Given the description of an element on the screen output the (x, y) to click on. 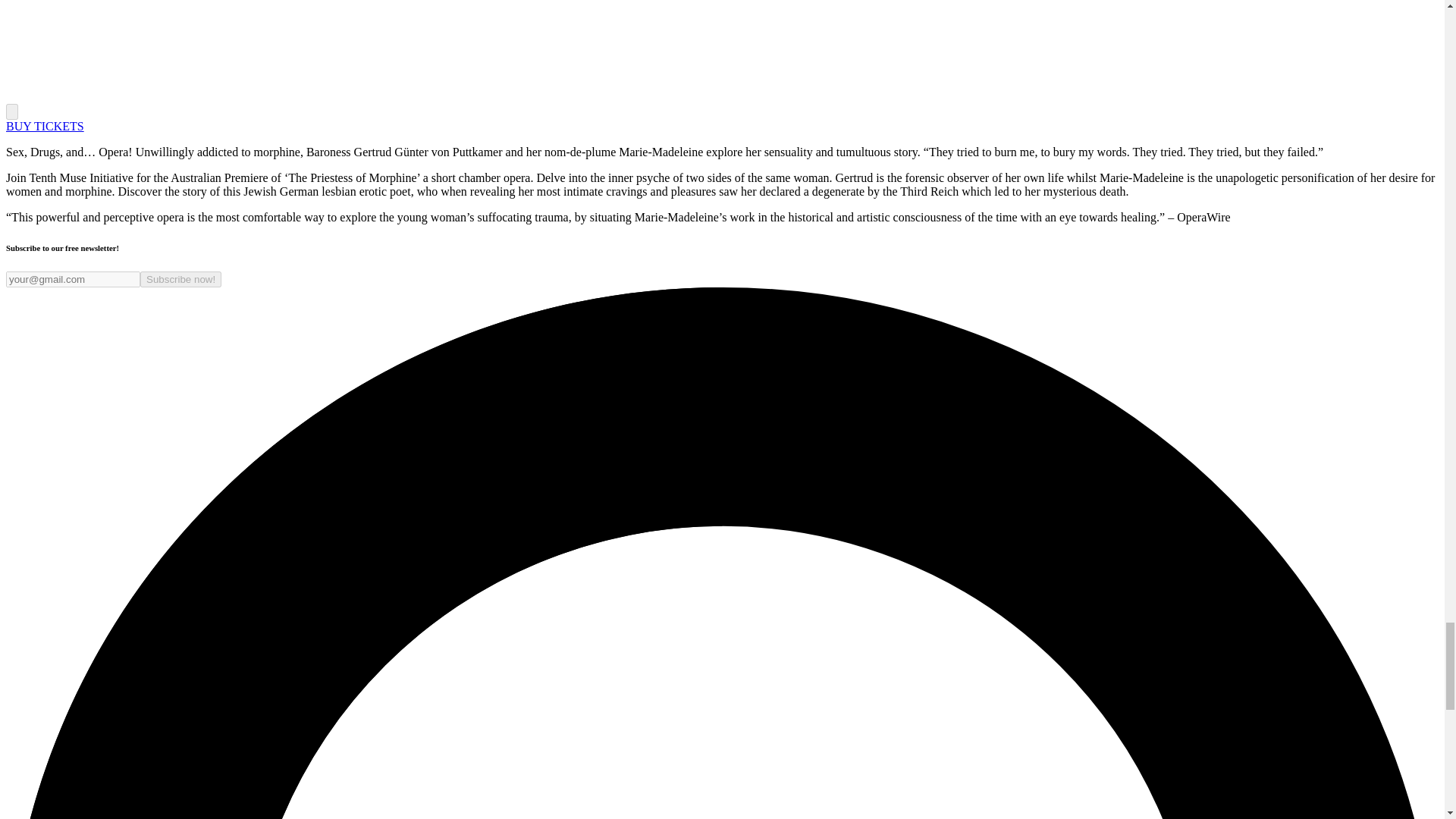
BUY TICKETS (44, 125)
Subscribe now! (180, 279)
Copy URL (11, 111)
